Given the description of an element on the screen output the (x, y) to click on. 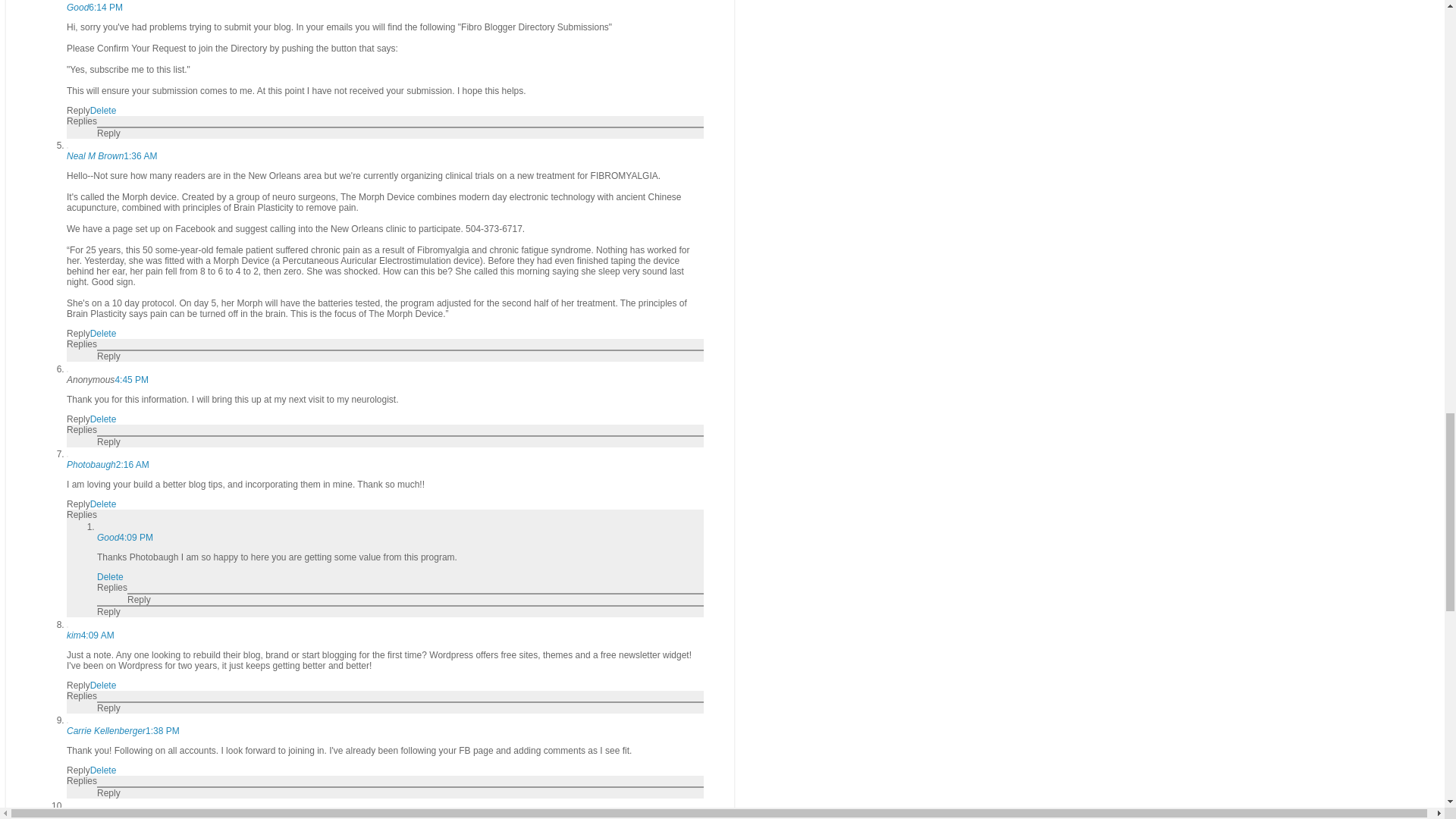
6:14 PM (105, 7)
Reply (78, 110)
Good (77, 7)
